Given the description of an element on the screen output the (x, y) to click on. 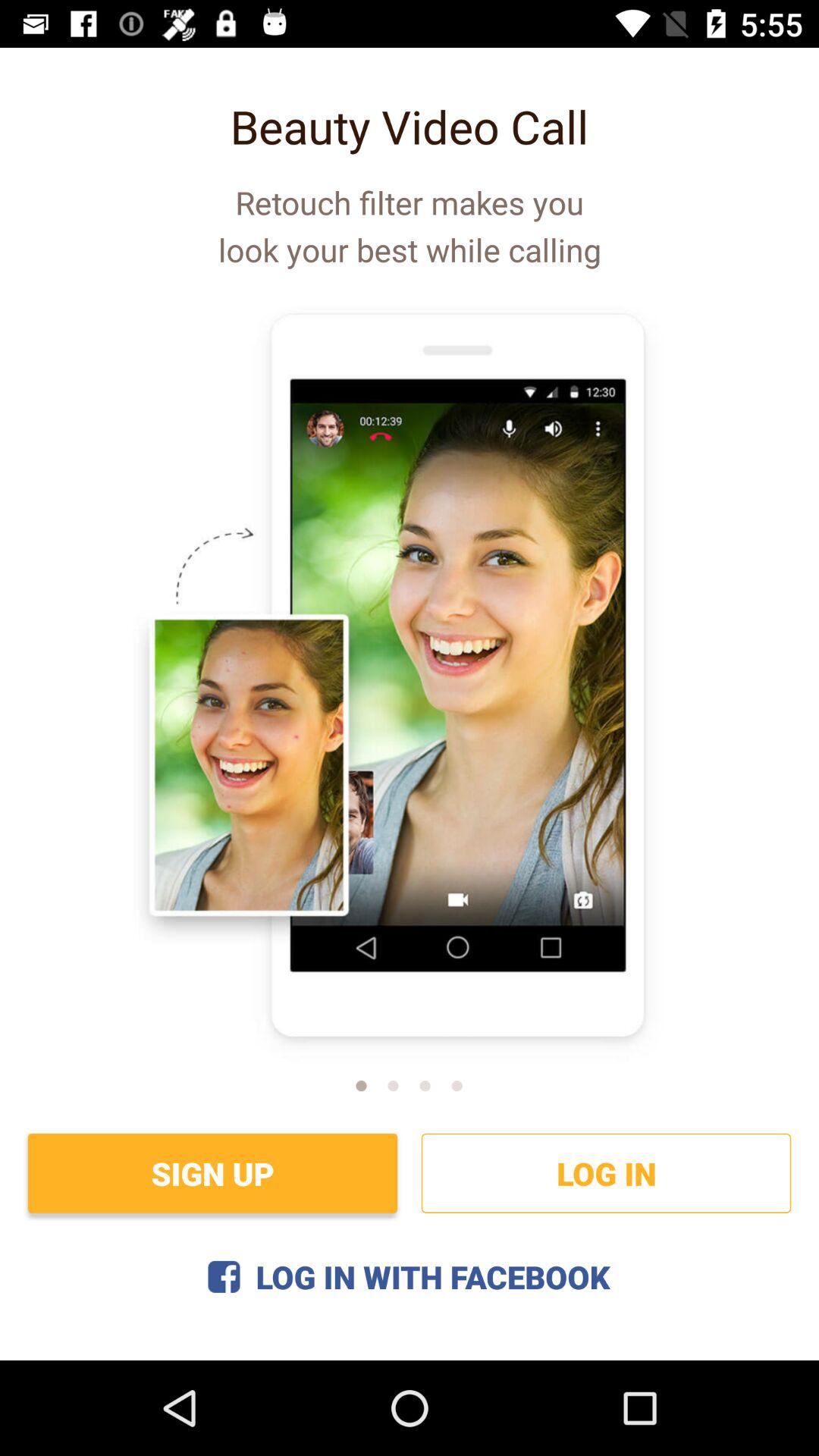
choose the icon above the log in with (212, 1173)
